Given the description of an element on the screen output the (x, y) to click on. 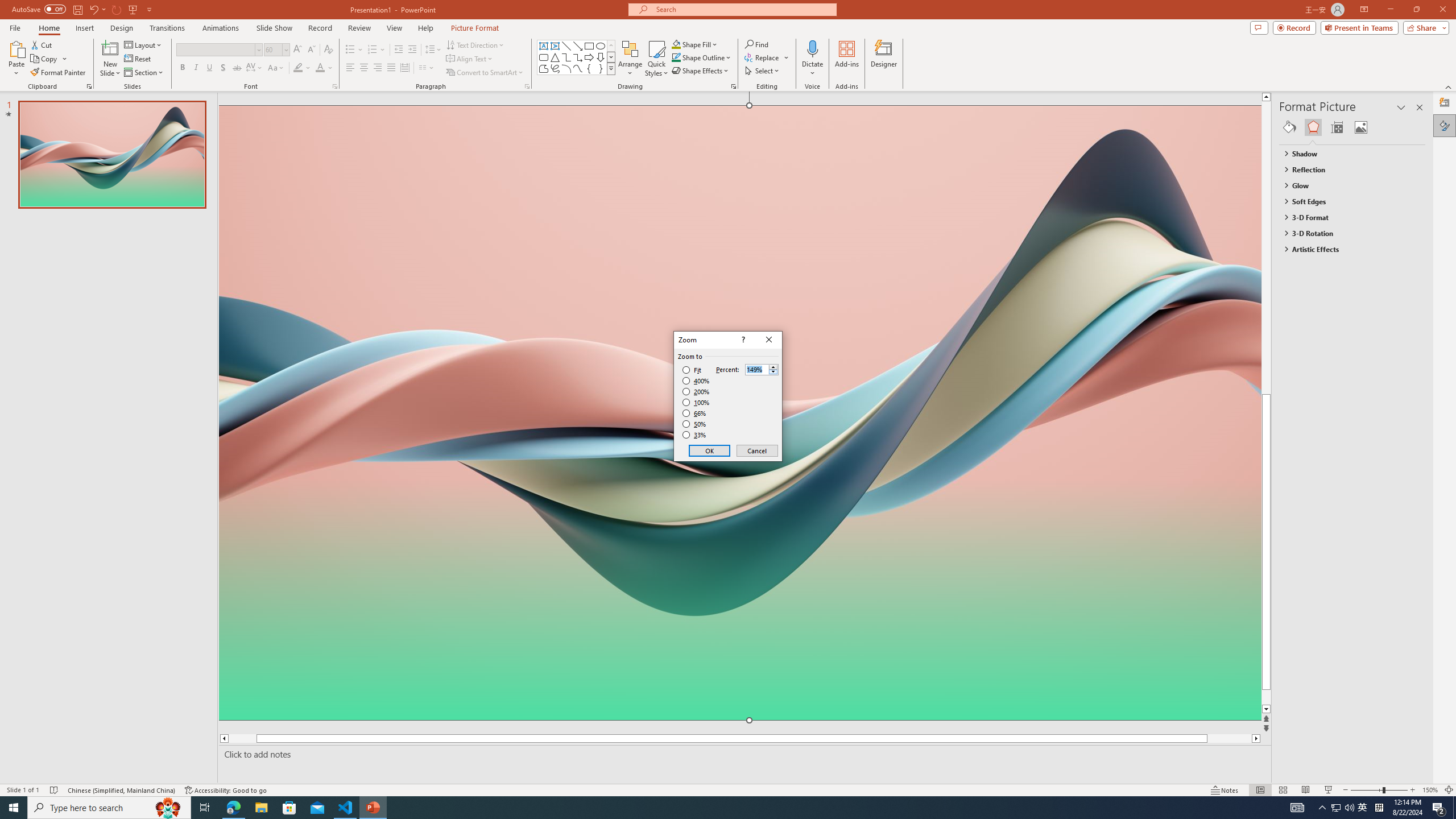
Context help (742, 339)
